Given the description of an element on the screen output the (x, y) to click on. 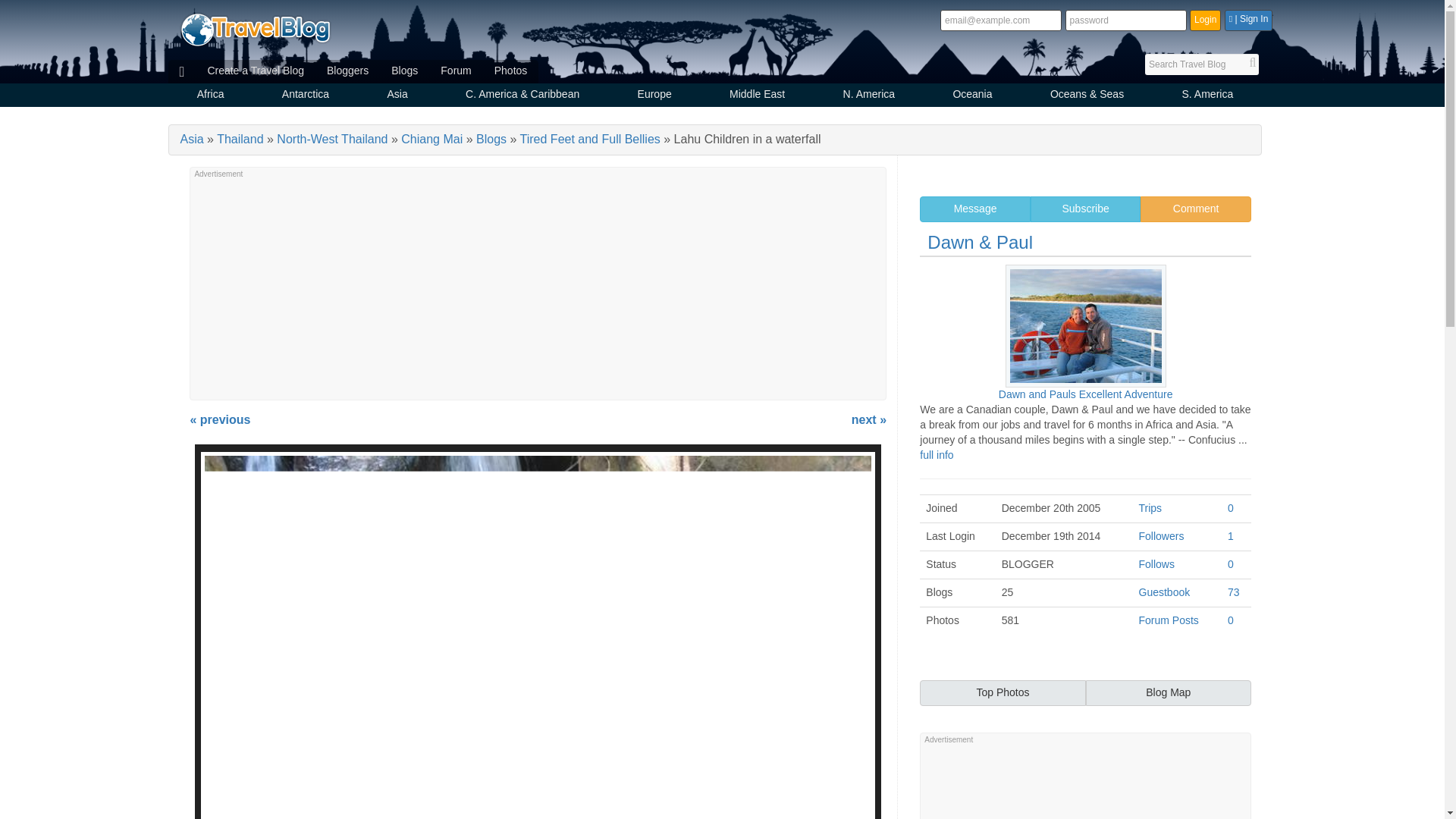
Create a Travel Blog (255, 71)
Forum (455, 71)
Asia (397, 95)
Login (1205, 20)
Oceania (972, 95)
Photos (510, 71)
Sign in with Facebook (1248, 20)
N. America (868, 95)
Blogs (404, 71)
Login (1205, 20)
Travel Blog (255, 29)
Middle East (756, 95)
Bloggers (347, 71)
S. America (1207, 95)
